Given the description of an element on the screen output the (x, y) to click on. 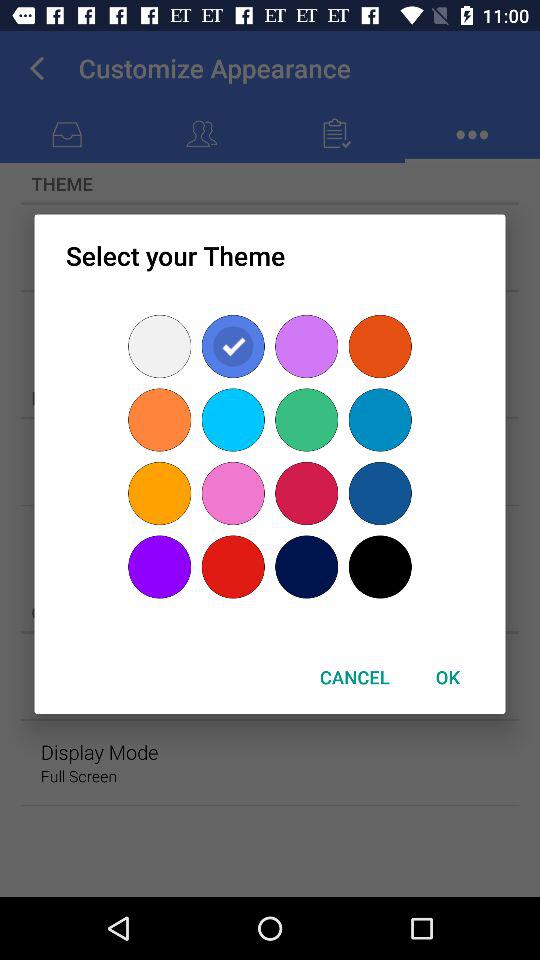
launch the item at the bottom right corner (447, 676)
